Given the description of an element on the screen output the (x, y) to click on. 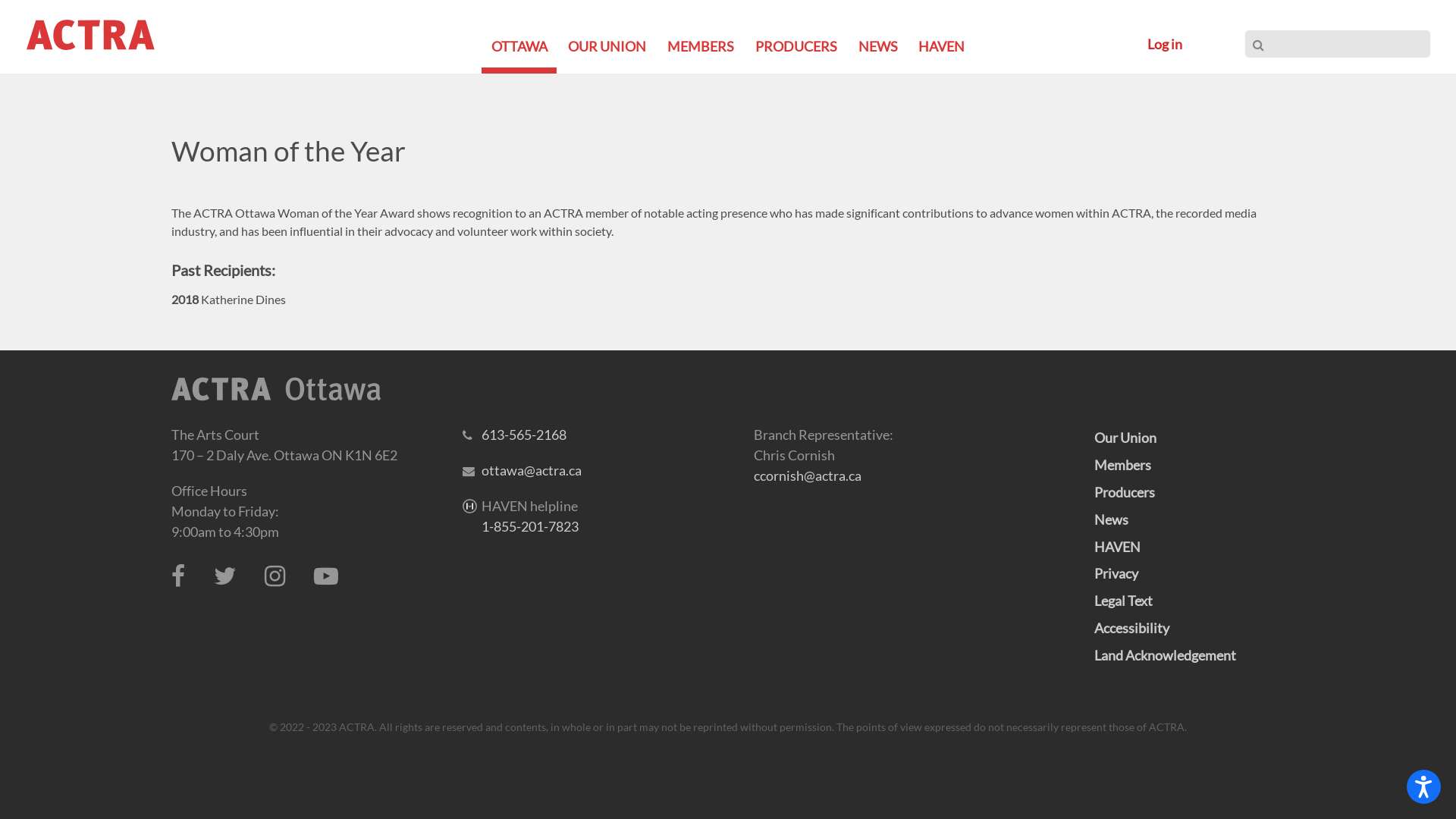
HAVEN Element type: text (941, 46)
HAVEN Element type: text (1116, 546)
Accessibility Element type: text (1130, 627)
Log in Element type: text (1164, 43)
ottawa@actra.ca Element type: text (531, 469)
ccornish@actra.ca Element type: text (807, 475)
Legal Text Element type: text (1122, 600)
613-565-2168 Element type: text (523, 434)
Land Acknowledgement Element type: text (1164, 654)
Producers Element type: text (1123, 491)
Our Union Element type: text (1124, 437)
Privacy Element type: text (1115, 572)
Members Element type: text (1121, 464)
1-855-201-7823 Element type: text (529, 525)
News Element type: text (1110, 519)
